Given the description of an element on the screen output the (x, y) to click on. 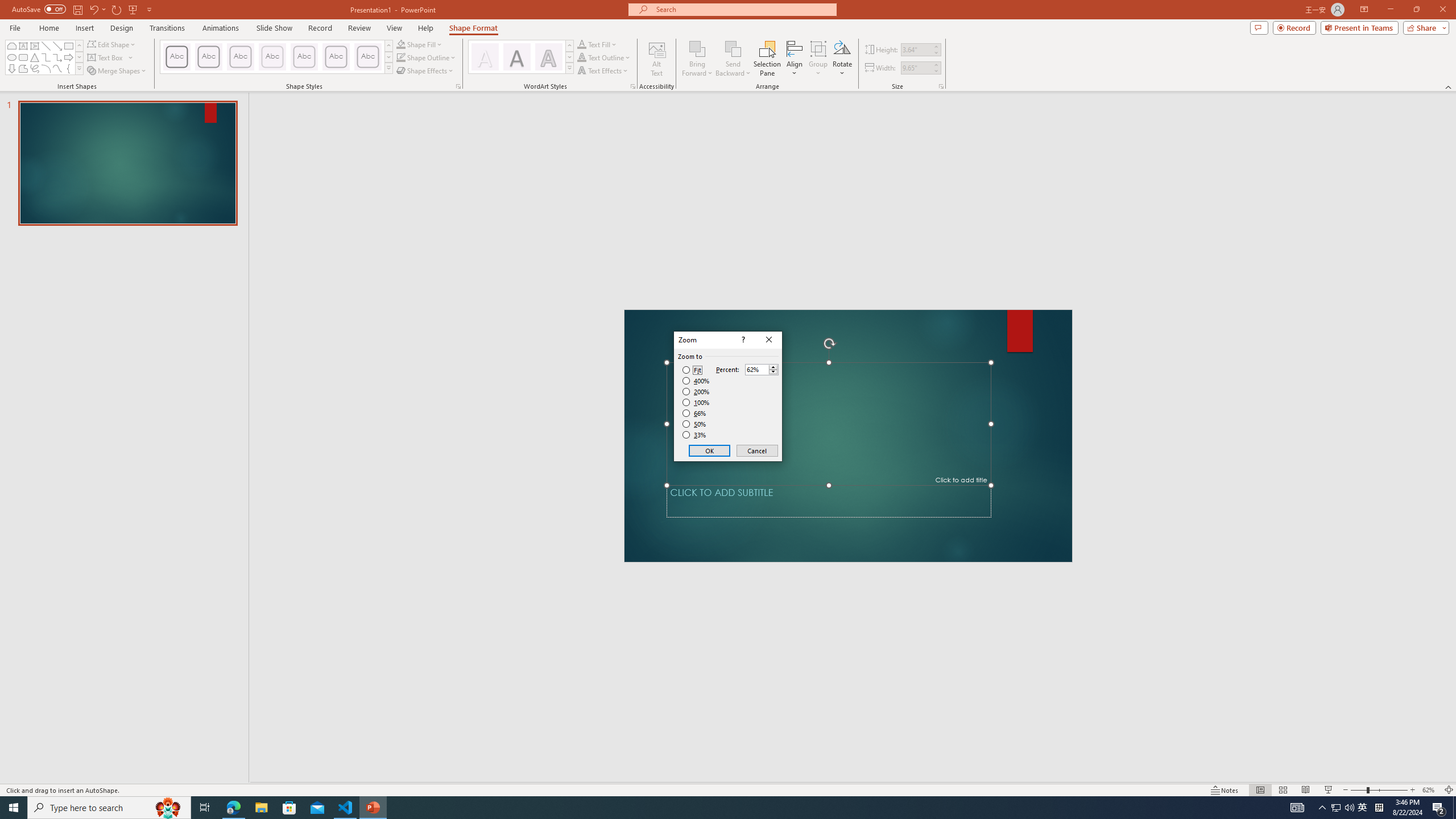
Colored Outline - Black, Dark 1 (176, 56)
Colored Outline - Blue-Gray, Accent 5 (336, 56)
Bring Forward (697, 48)
Colored Outline - Purple, Accent 6 (368, 56)
